Given the description of an element on the screen output the (x, y) to click on. 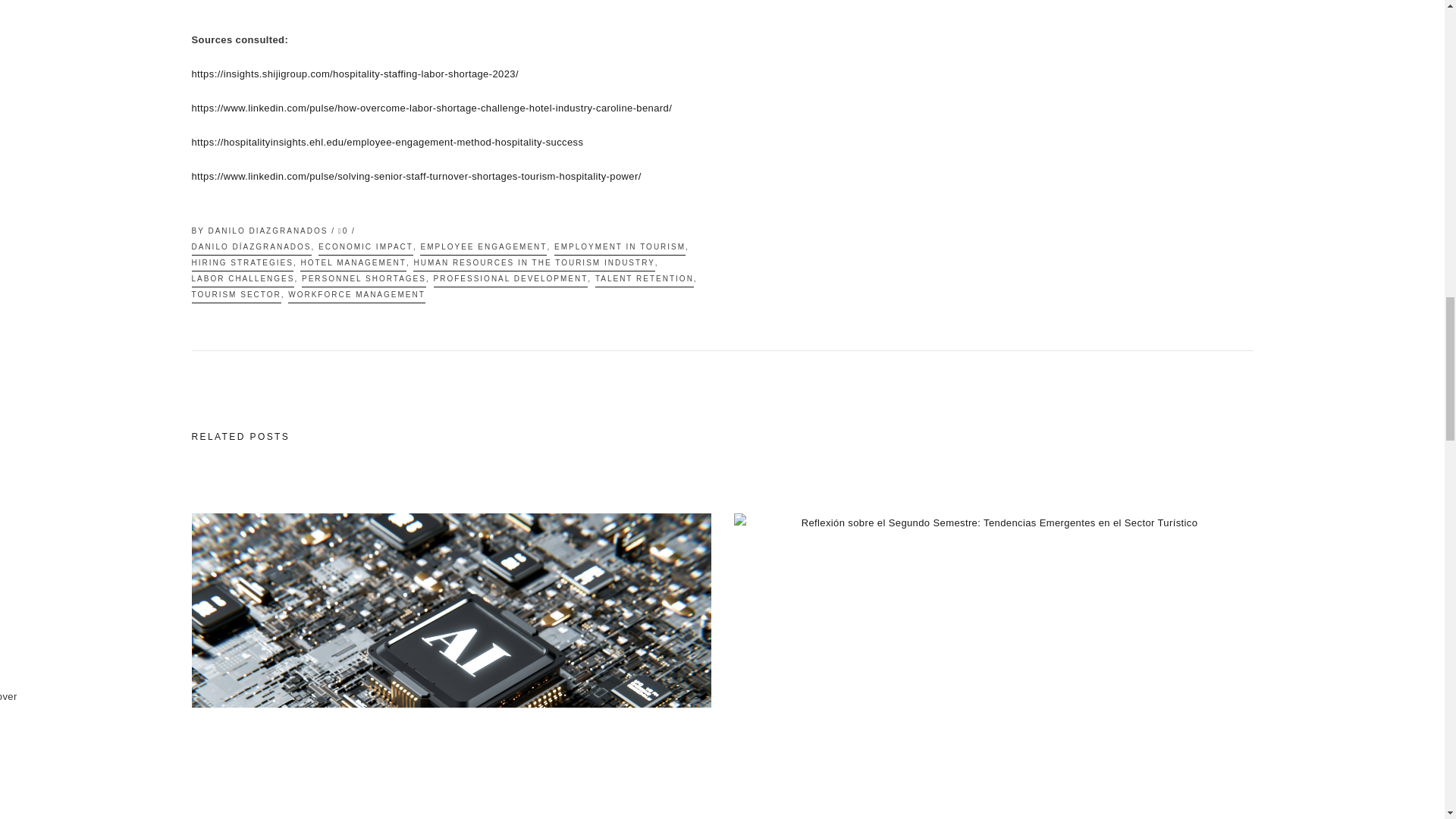
Like this (342, 230)
DANILO DIAZGRANADOS (269, 230)
0 (342, 230)
